Given the description of an element on the screen output the (x, y) to click on. 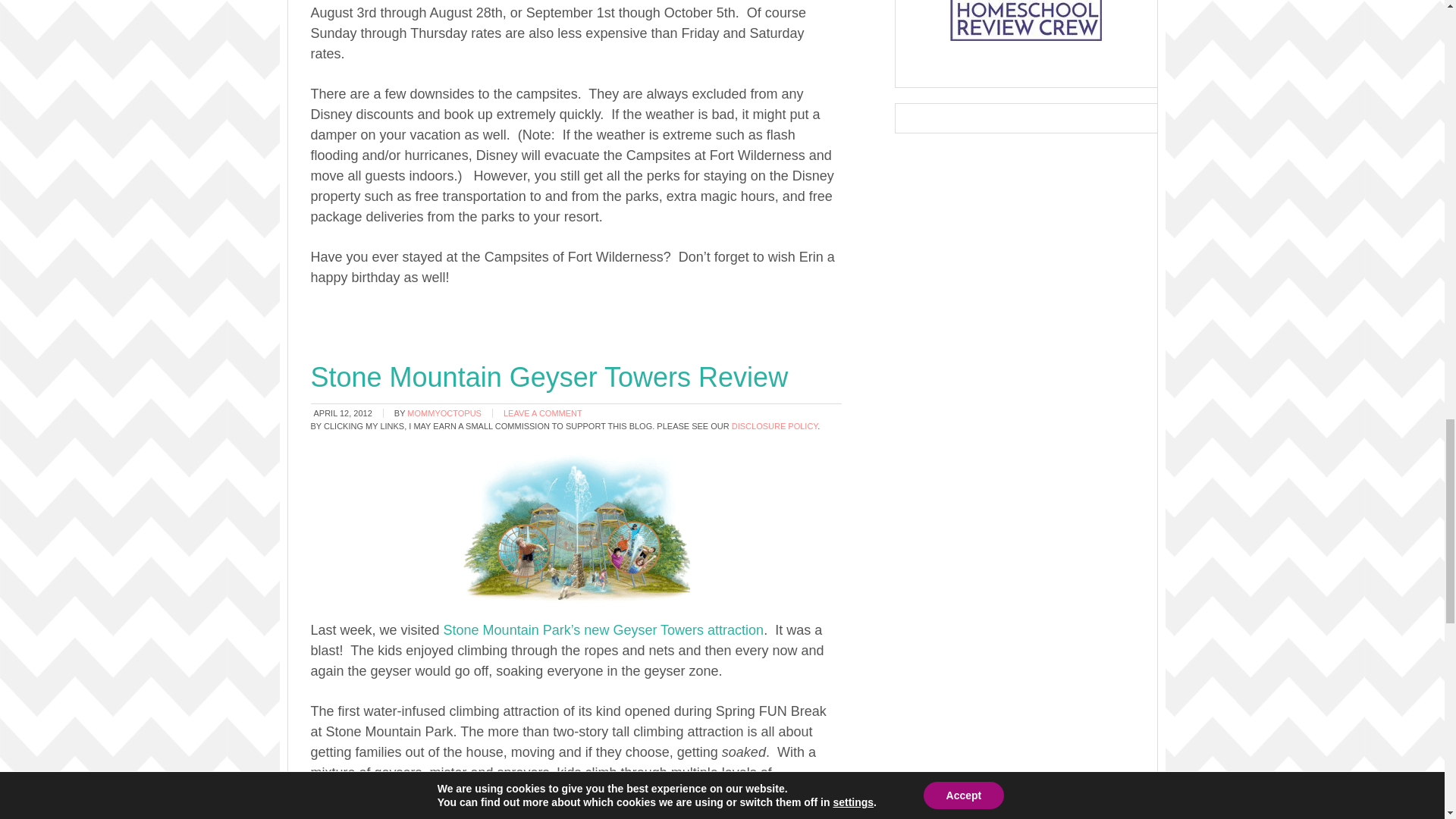
LEAVE A COMMENT (542, 412)
DISCLOSURE POLICY (775, 425)
Stone Mountain Geyser Towers Review (550, 377)
MOMMYOCTOPUS (444, 412)
Capture (576, 525)
